Given the description of an element on the screen output the (x, y) to click on. 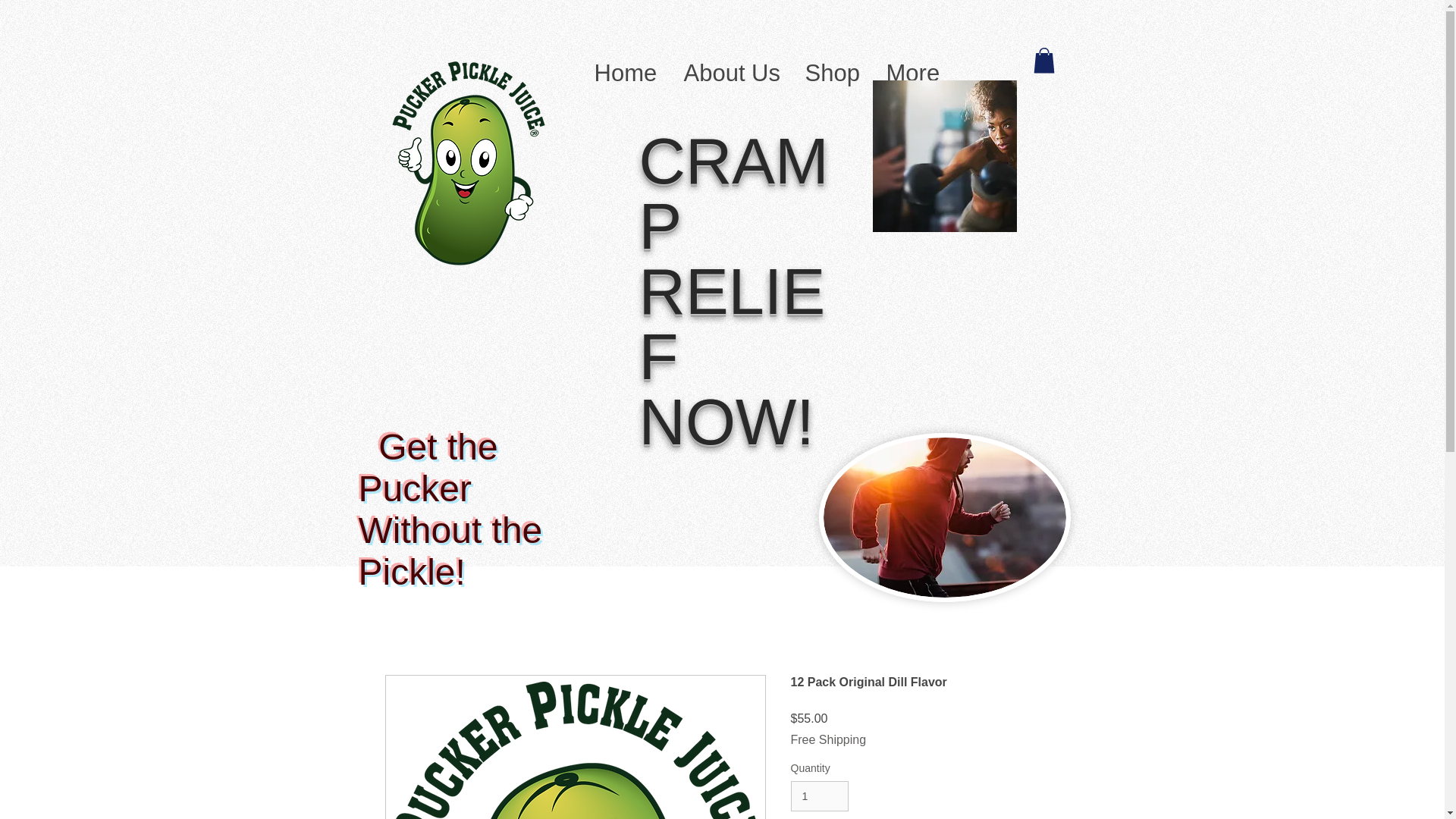
About Us (729, 68)
Home (623, 68)
Shop (830, 68)
1 (818, 796)
Free Shipping (828, 739)
